Given the description of an element on the screen output the (x, y) to click on. 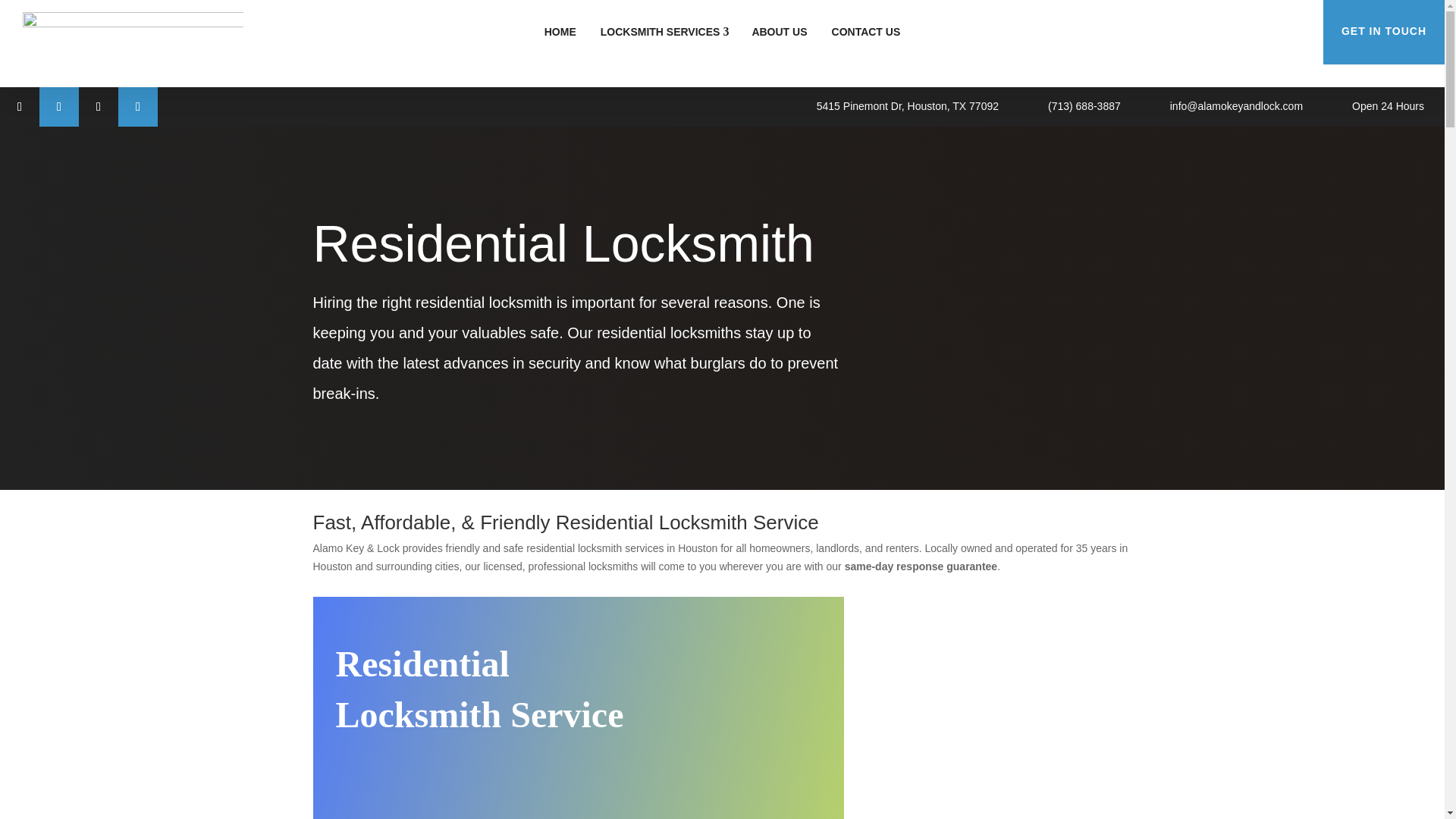
Follow on X (58, 106)
ABOUT US (778, 31)
Follow on Youtube (137, 106)
Follow on Yelp (97, 106)
CONTACT US (865, 31)
alamo-logo (133, 43)
LOCKSMITH SERVICES (663, 31)
Follow on Facebook (19, 106)
